Given the description of an element on the screen output the (x, y) to click on. 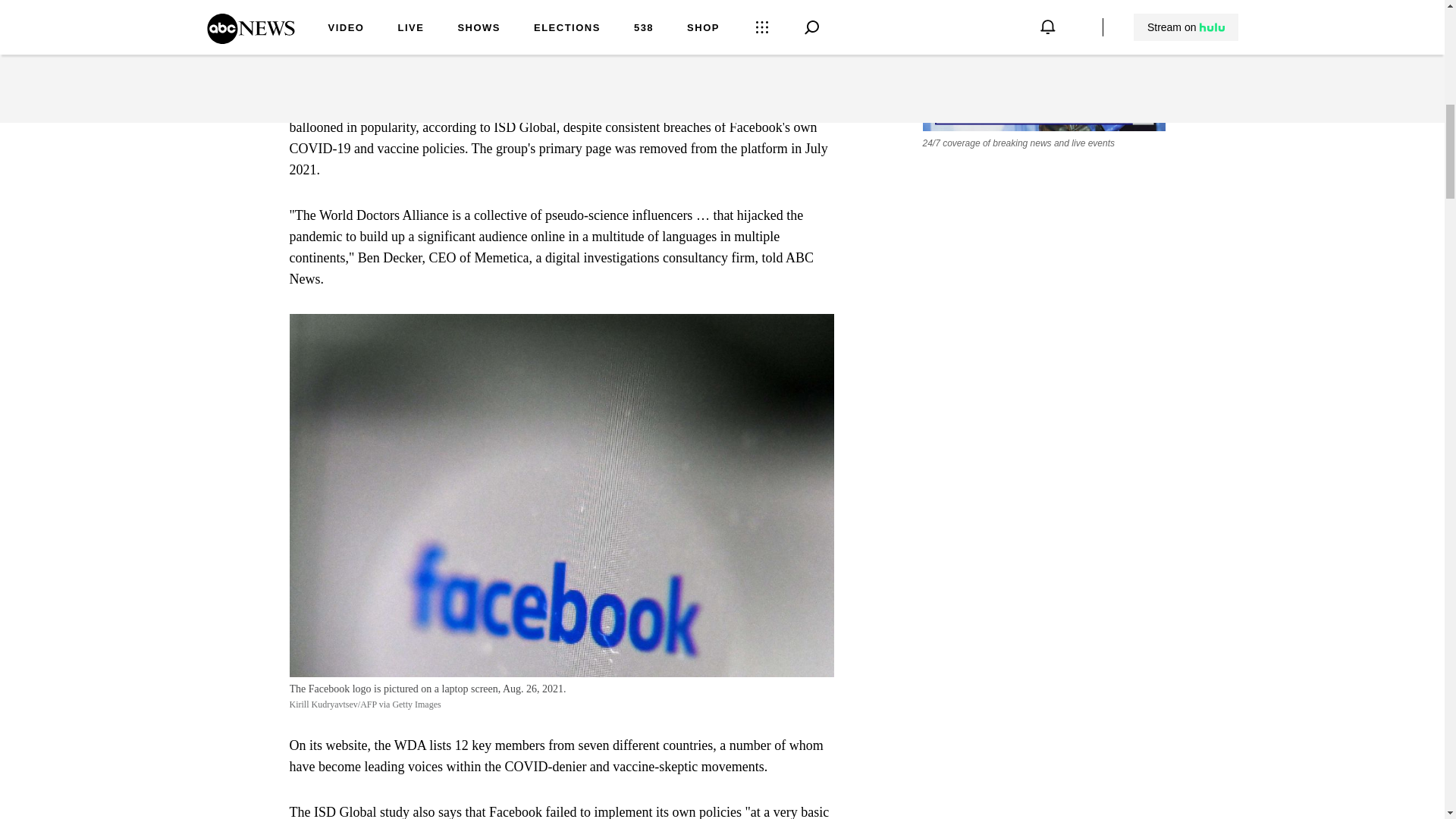
according to a study from ISD Global, (552, 12)
